Given the description of an element on the screen output the (x, y) to click on. 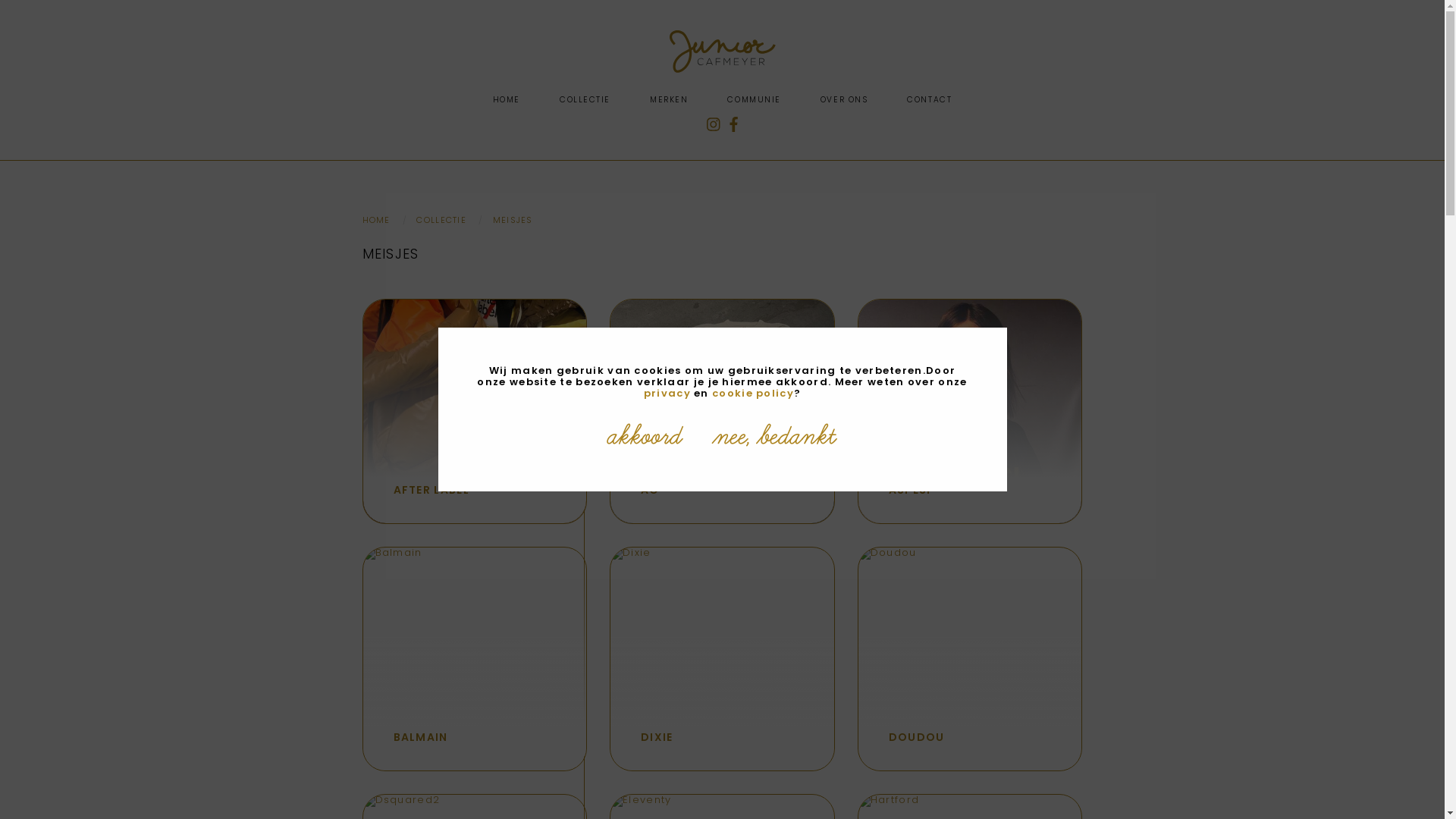
COLLECTIE Element type: text (441, 219)
BALMAIN Element type: text (474, 658)
OVER ONS Element type: text (843, 99)
MERKEN Element type: text (668, 99)
AO Element type: text (721, 411)
HOME Element type: text (506, 99)
nee, bedankt Element type: text (775, 437)
COLLECTIE Element type: text (584, 99)
HOME Element type: text (376, 219)
Overslaan en naar de inhoud gaan Element type: text (0, 0)
COMMUNIE Element type: text (753, 99)
akkoord Element type: text (645, 437)
DIXIE Element type: text (721, 658)
CONTACT Element type: text (928, 99)
cookie policy Element type: text (752, 392)
privacy Element type: text (666, 392)
MEISJES Element type: text (512, 219)
Home Element type: hover (721, 69)
ASPESI Element type: text (969, 411)
DOUDOU Element type: text (969, 658)
AFTER LABEL Element type: text (474, 411)
